Given the description of an element on the screen output the (x, y) to click on. 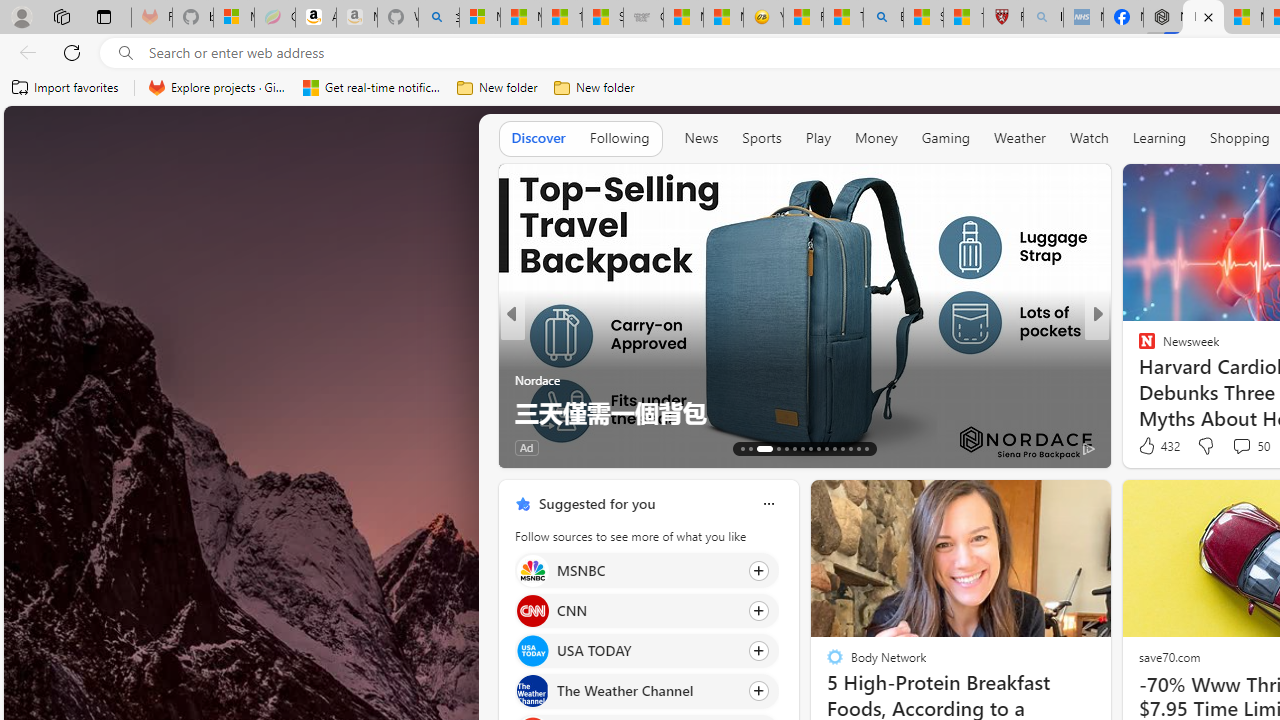
View comments 7 Comment (1234, 447)
View comments 6 Comment (1234, 447)
Sports (761, 138)
View comments 50 Comment (1241, 445)
View comments 1 Comment (1234, 447)
Search icon (125, 53)
AutomationID: tab-70 (786, 448)
View comments 12 Comment (628, 447)
Watch (1089, 137)
Money (875, 137)
